Given the description of an element on the screen output the (x, y) to click on. 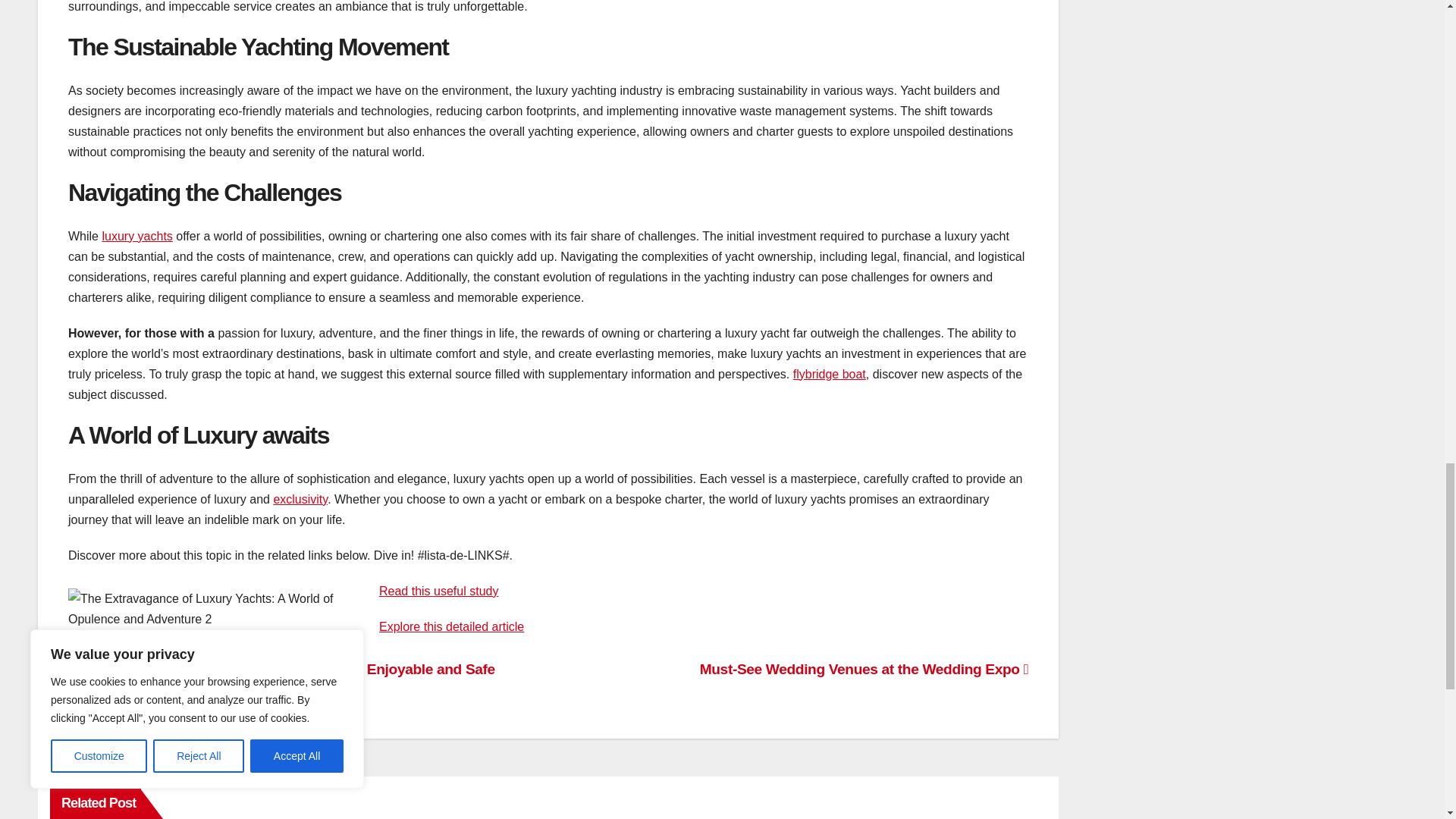
flybridge boat (829, 373)
Must-See Wedding Venues at the Wedding Expo (864, 668)
exclusivity (300, 499)
Explore this detailed article (451, 626)
luxury yachts (136, 236)
Read this useful study (437, 590)
